Given the description of an element on the screen output the (x, y) to click on. 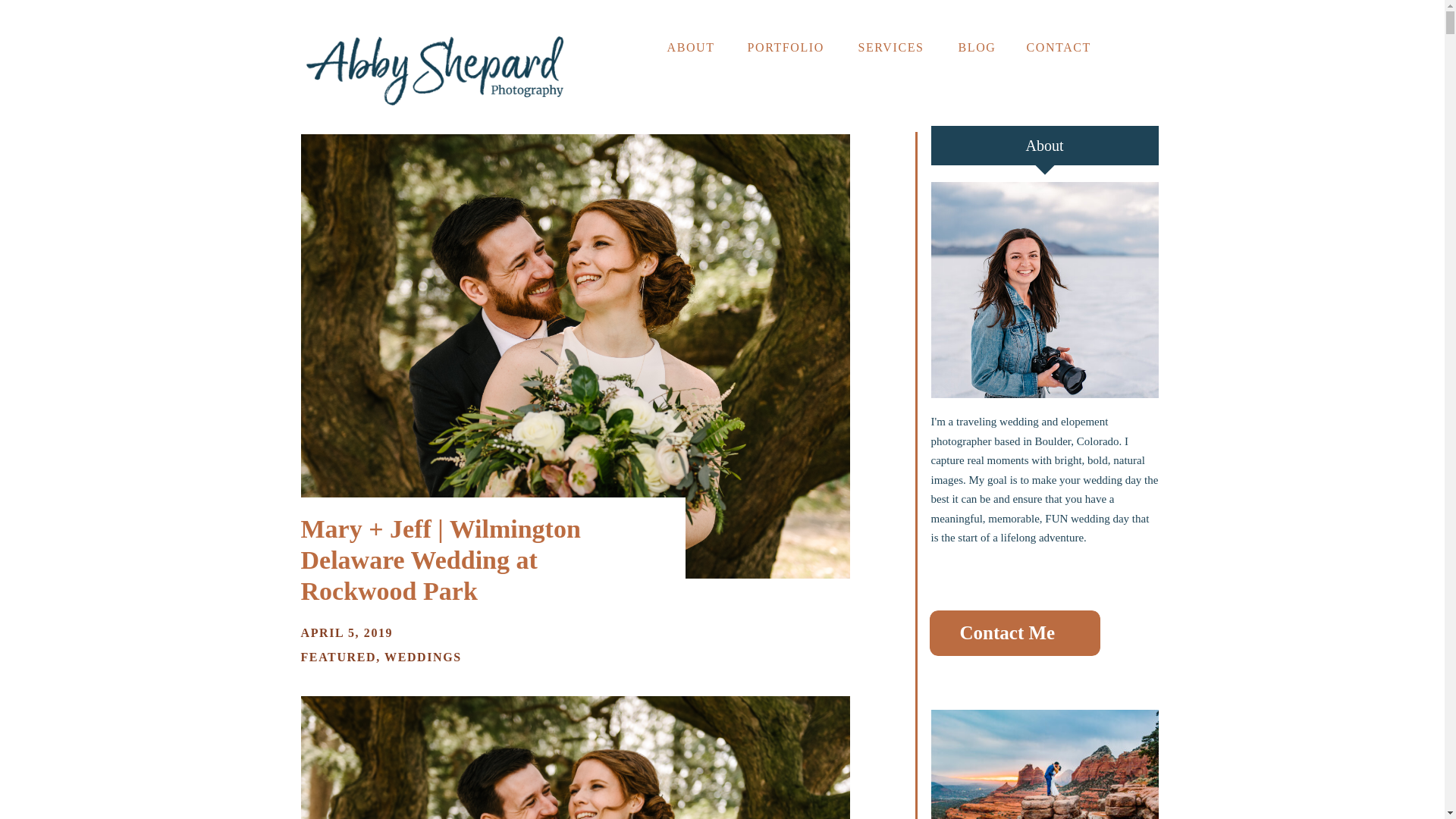
PORTFOLIO (788, 46)
Contact Me (1014, 632)
CONTACT (1061, 46)
WEDDINGS (422, 656)
ABOUT (692, 43)
SERVICES (894, 46)
BLOG (978, 46)
FEATURED (337, 656)
